Given the description of an element on the screen output the (x, y) to click on. 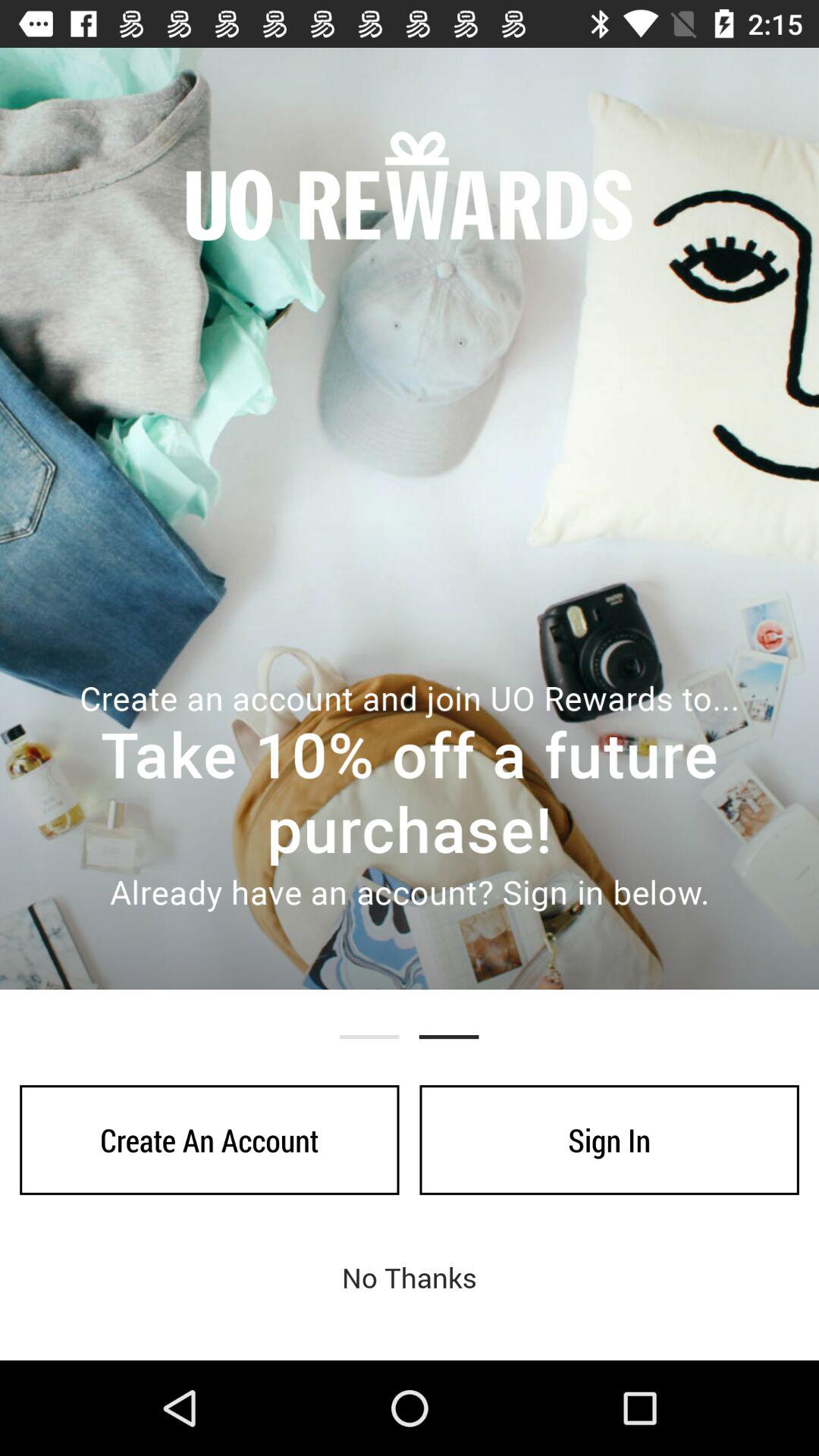
choose icon next to create an account icon (609, 1139)
